Given the description of an element on the screen output the (x, y) to click on. 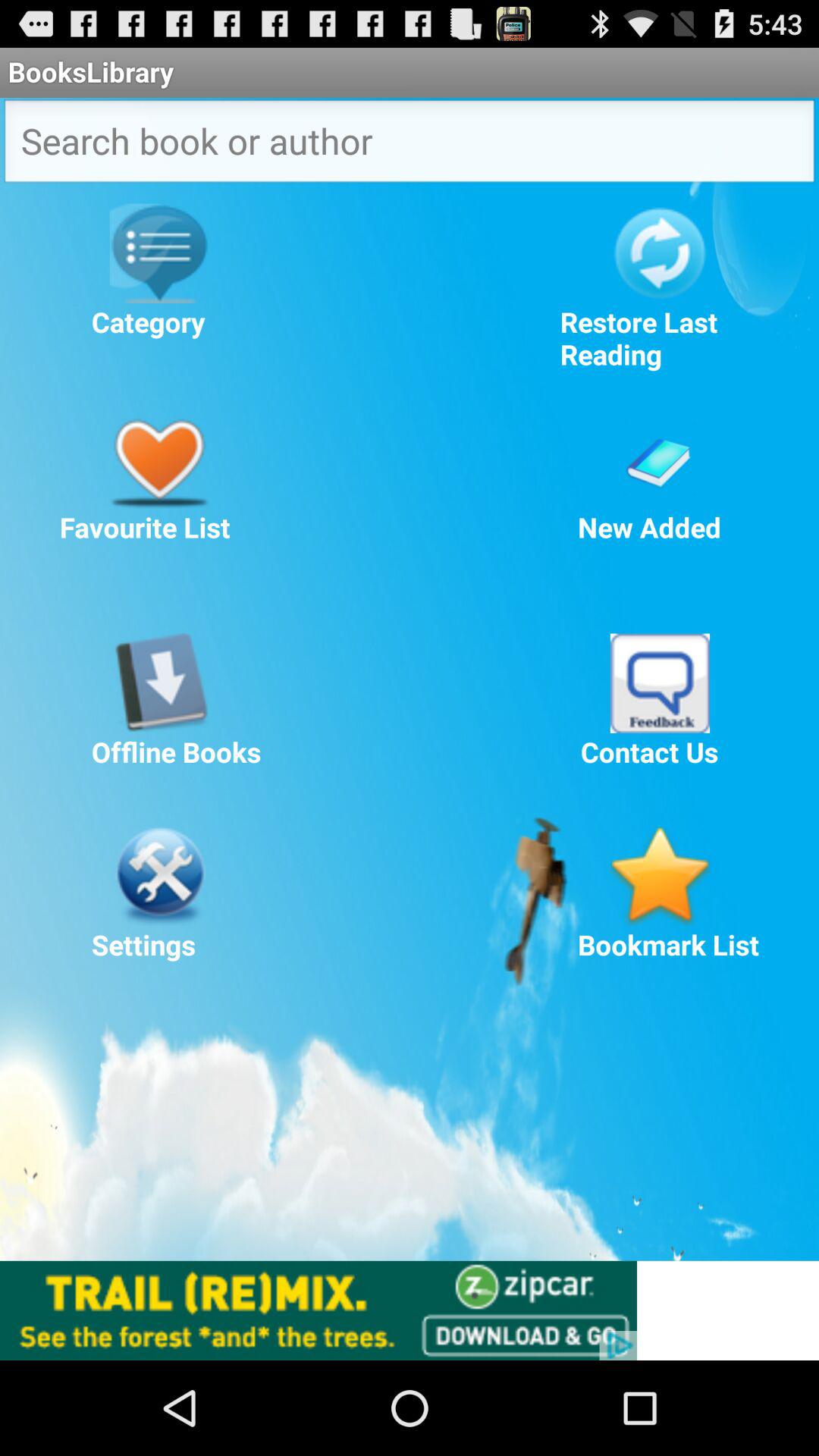
settings (158, 875)
